Given the description of an element on the screen output the (x, y) to click on. 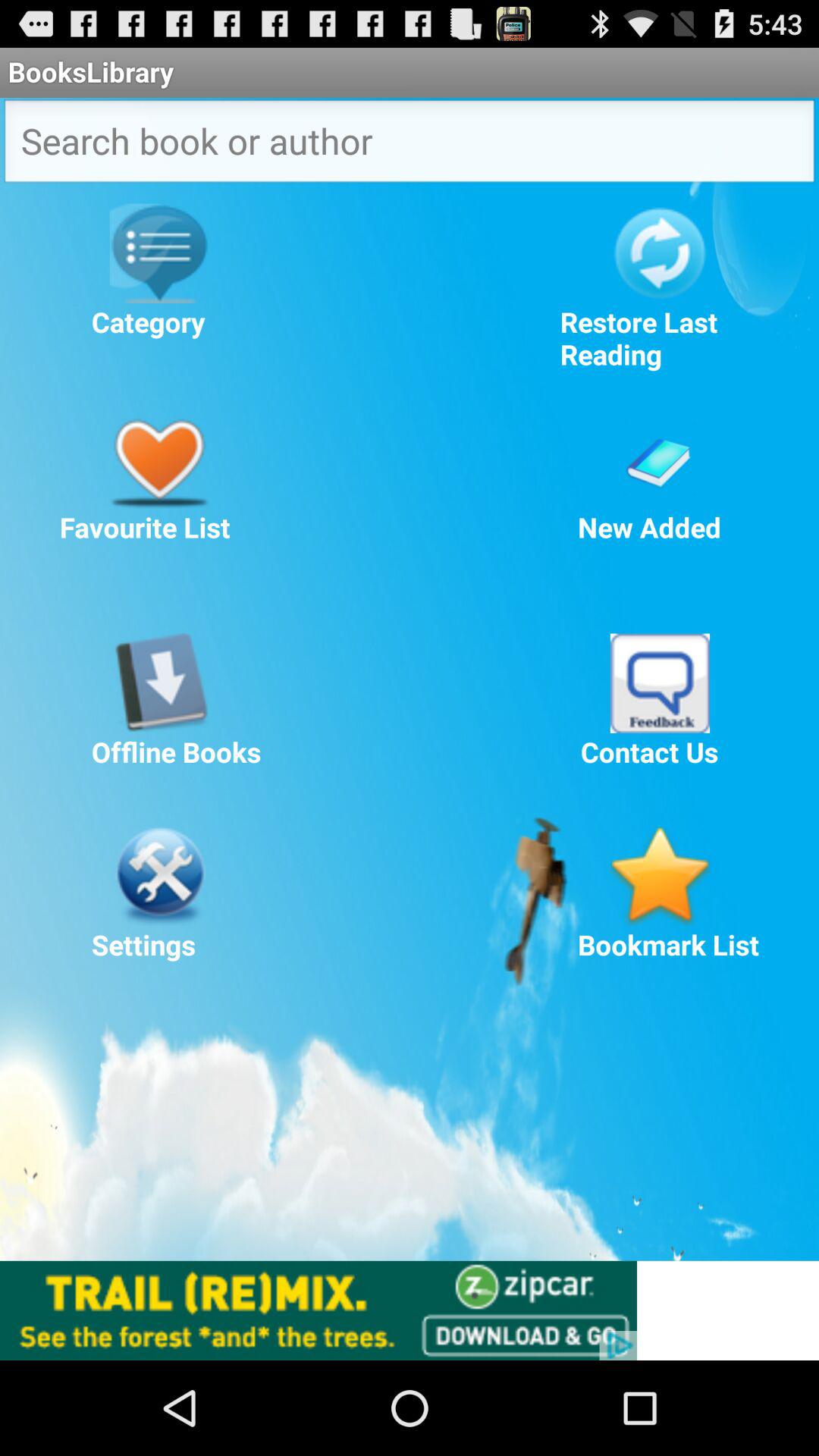
settings (158, 875)
